Given the description of an element on the screen output the (x, y) to click on. 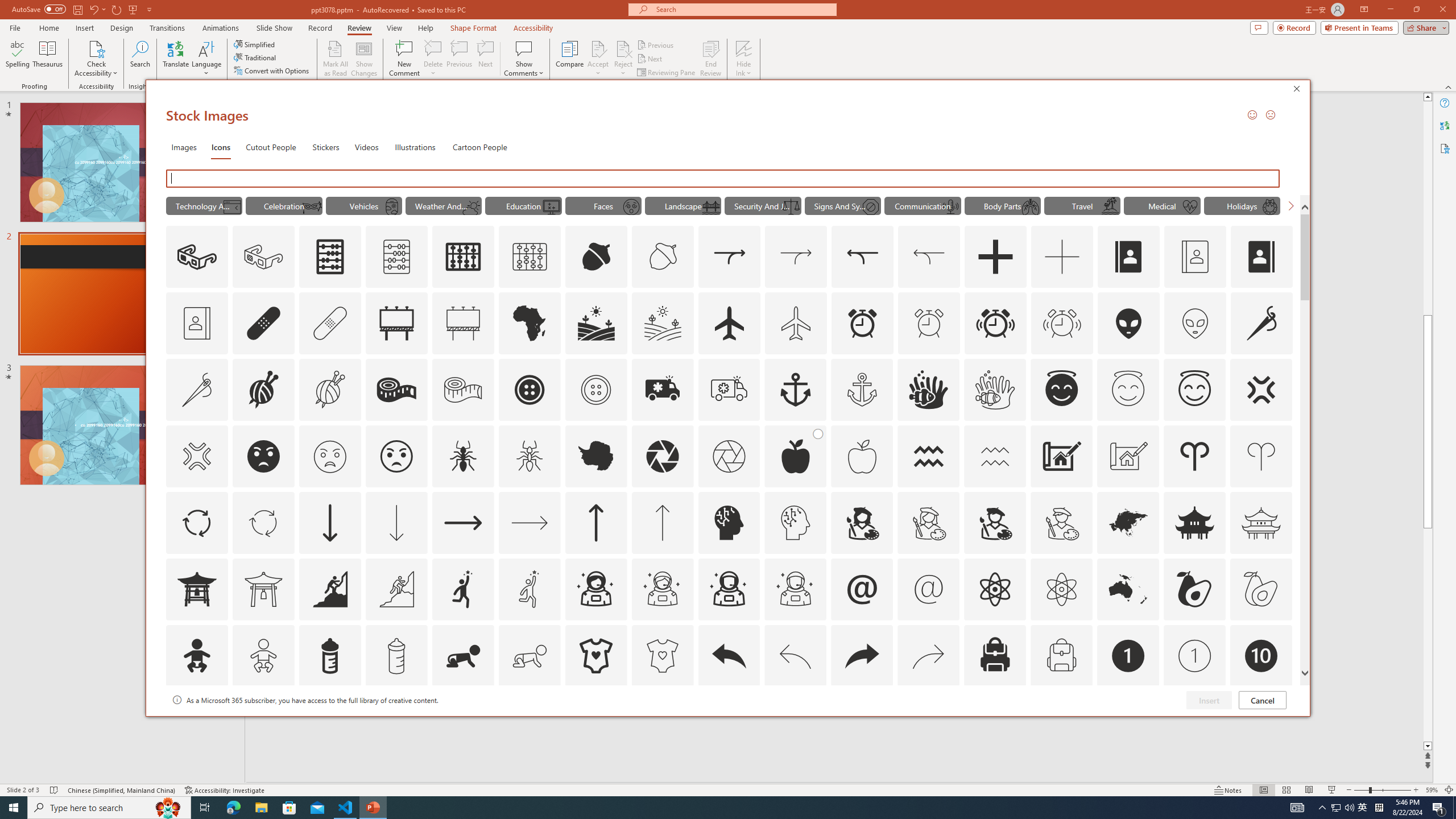
AutomationID: Icons_AstronautMale (729, 588)
AutomationID: Icons_Asia (1128, 522)
AutomationID: Icons_Ambulance (662, 389)
"Landscape" Icons. (682, 205)
AutomationID: Icons_Australia (1128, 588)
Zoom 59% (1431, 790)
